Given the description of an element on the screen output the (x, y) to click on. 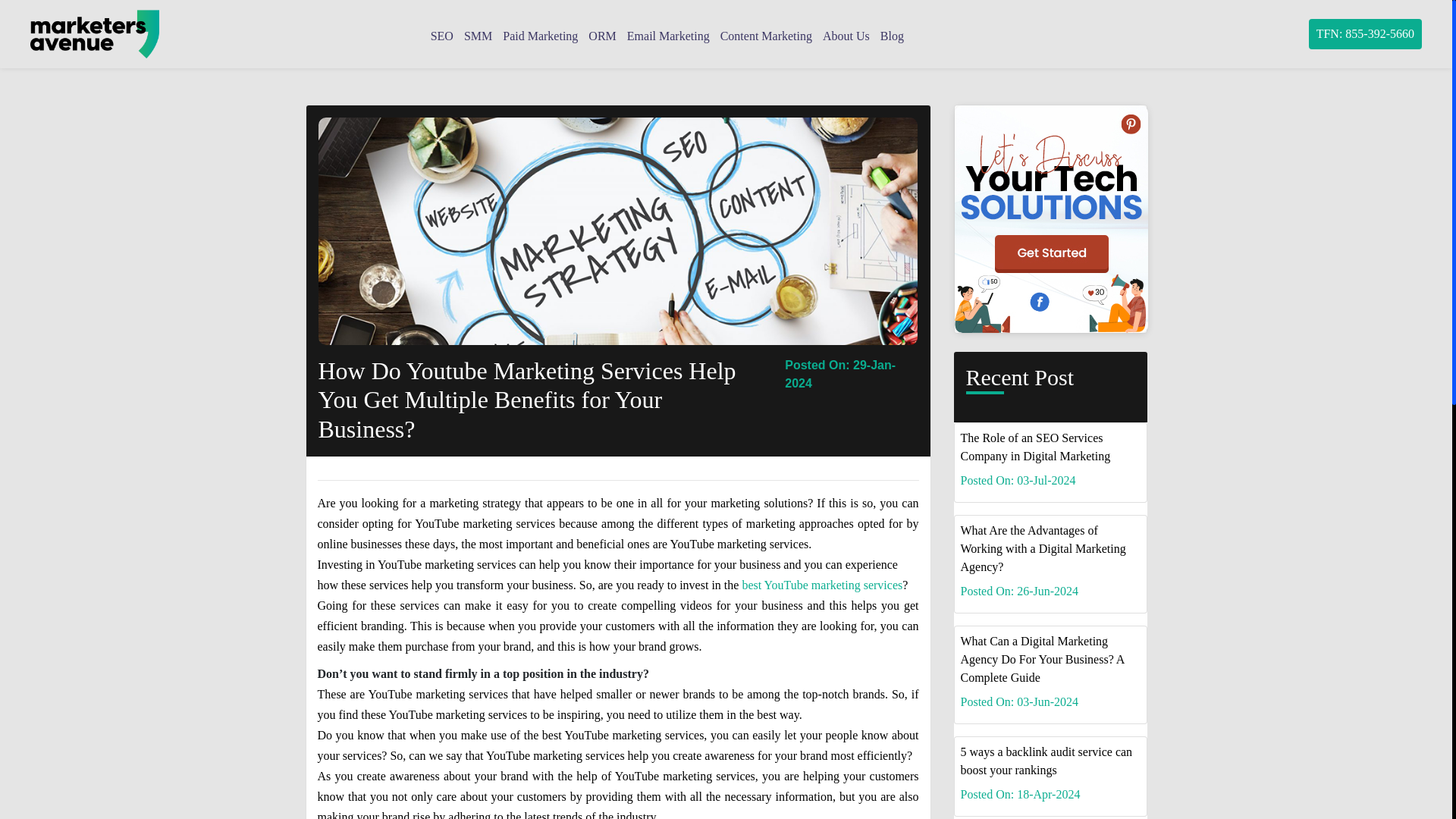
Paid Marketing (540, 35)
SMM (478, 35)
Content Marketing (766, 35)
ORM (601, 35)
SEO (441, 35)
Email Marketing (668, 35)
